Given the description of an element on the screen output the (x, y) to click on. 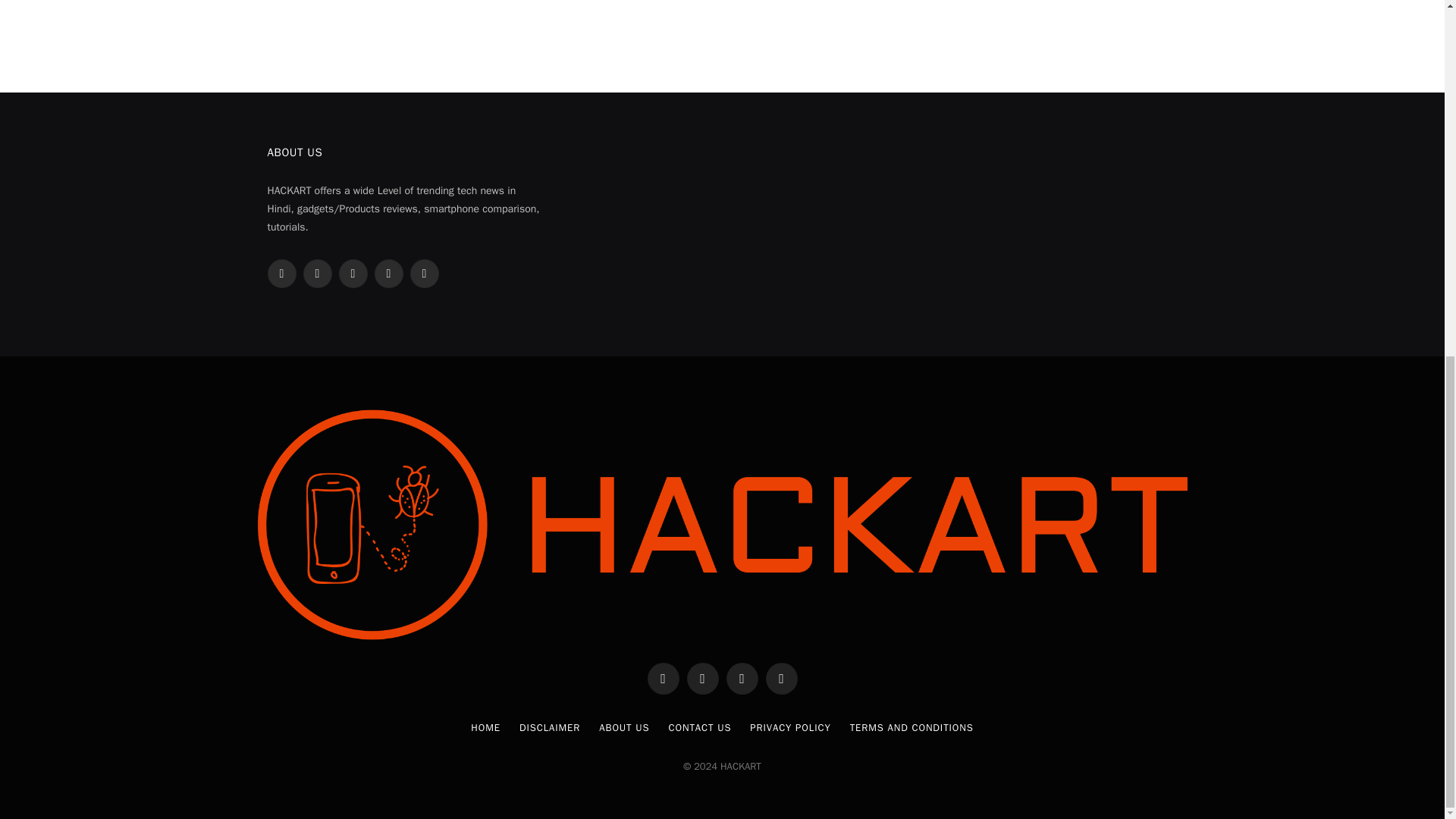
Instagram (351, 273)
Advertisement (721, 30)
Facebook (280, 273)
